Given the description of an element on the screen output the (x, y) to click on. 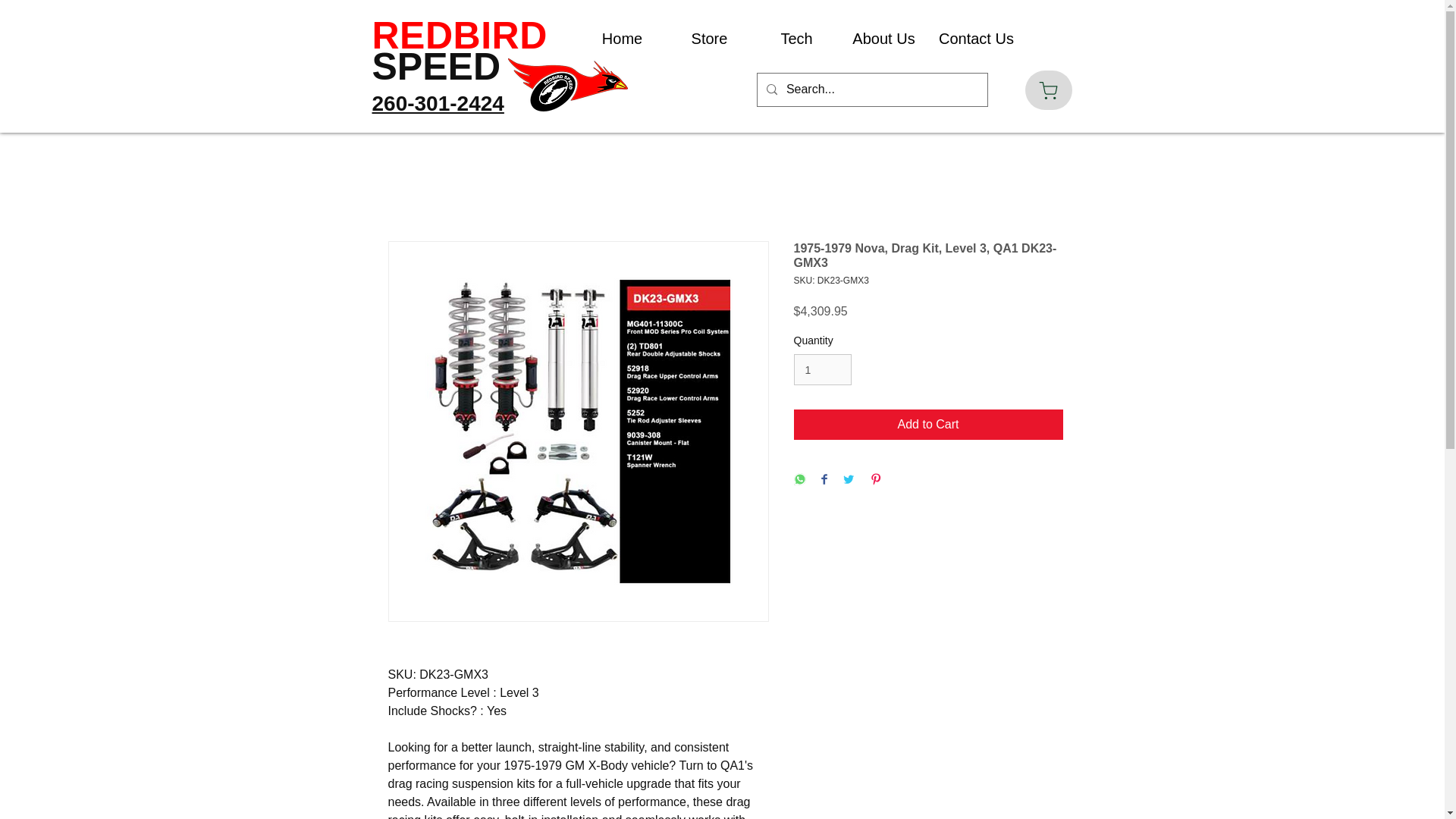
About Us (883, 38)
Contact Us (970, 38)
Store (708, 38)
Home (621, 38)
1 (821, 368)
Add to Cart (927, 424)
Tech (796, 38)
260-301-2424 (437, 103)
